Given the description of an element on the screen output the (x, y) to click on. 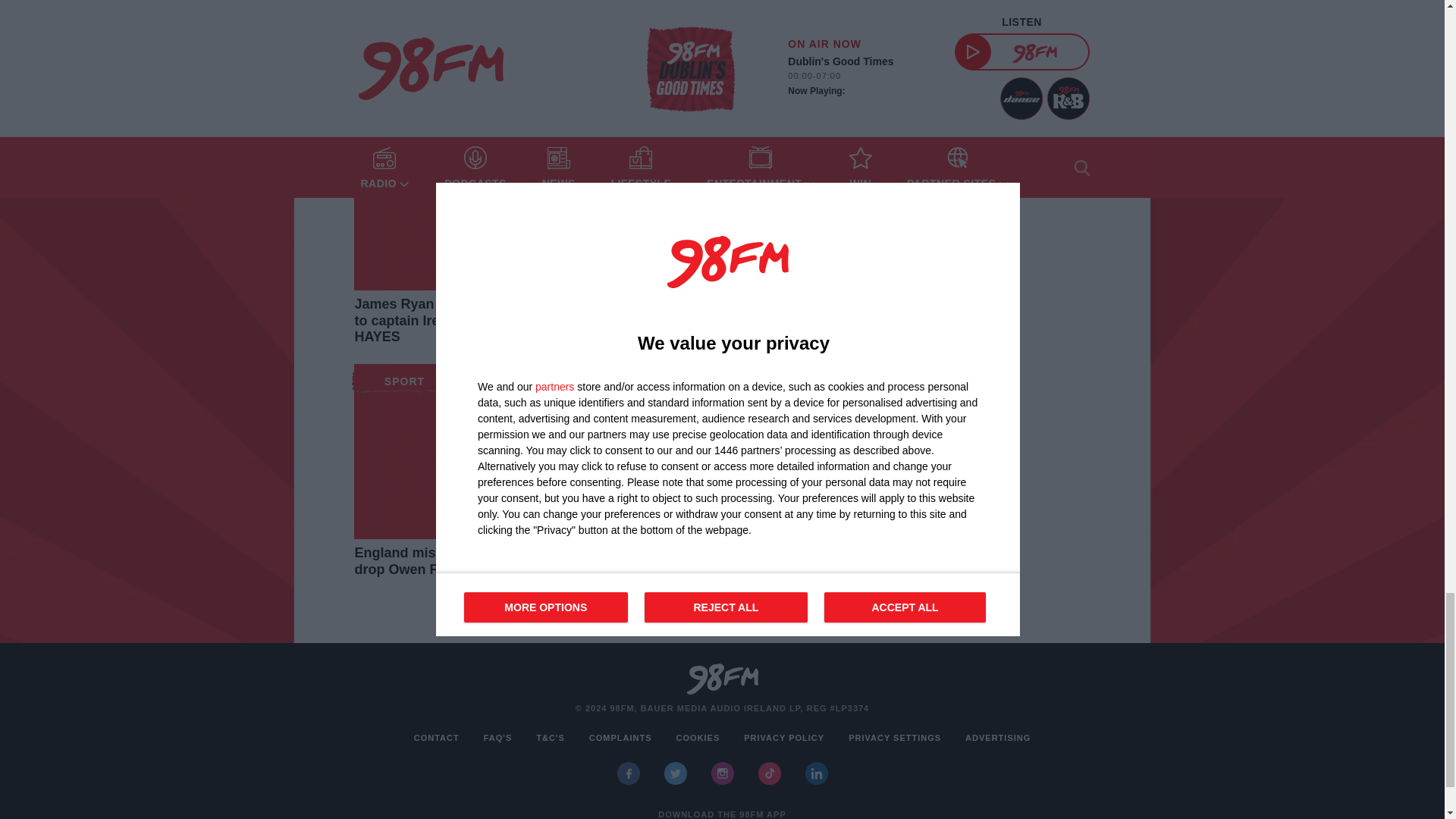
FAQ's (497, 738)
Contact (436, 738)
